Given the description of an element on the screen output the (x, y) to click on. 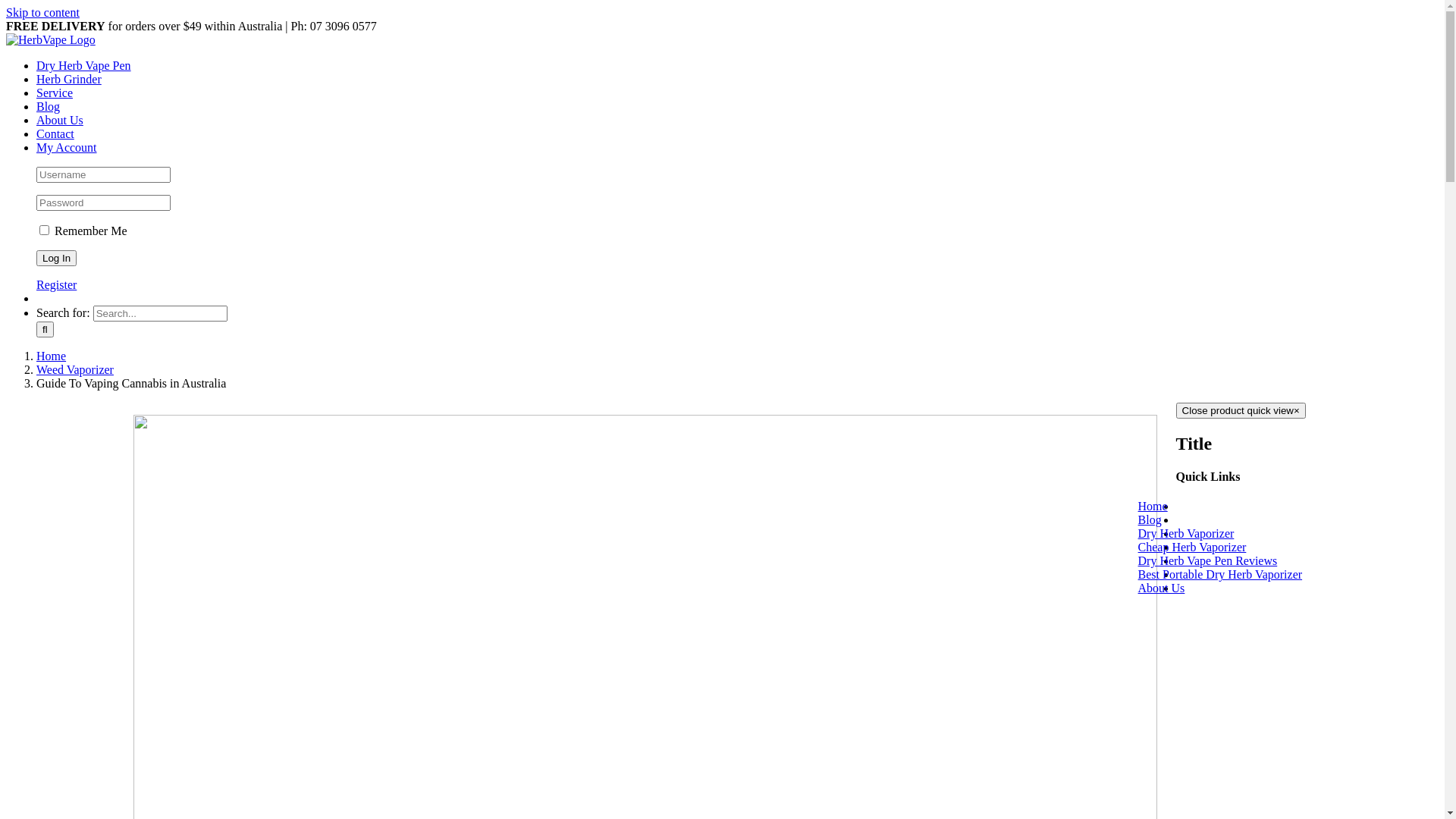
About Us Element type: text (59, 119)
Blog Element type: text (47, 106)
About Us Element type: text (1180, 587)
Service Element type: text (54, 92)
Contact Element type: text (55, 133)
Dry Herb Vape Pen Element type: text (83, 65)
My Account Element type: text (66, 147)
Home Element type: text (50, 355)
Dry Herb Vape Pen Reviews Element type: text (1226, 560)
Herb Grinder Element type: text (68, 78)
Weed Vaporizer Element type: text (74, 369)
Best Portable Dry Herb Vaporizer Element type: text (1239, 573)
Cheap Herb Vaporizer Element type: text (1211, 546)
Register Element type: text (56, 284)
Log In Element type: text (56, 258)
Skip to content Element type: text (42, 12)
Dry Herb Vaporizer Element type: text (1205, 533)
